Given the description of an element on the screen output the (x, y) to click on. 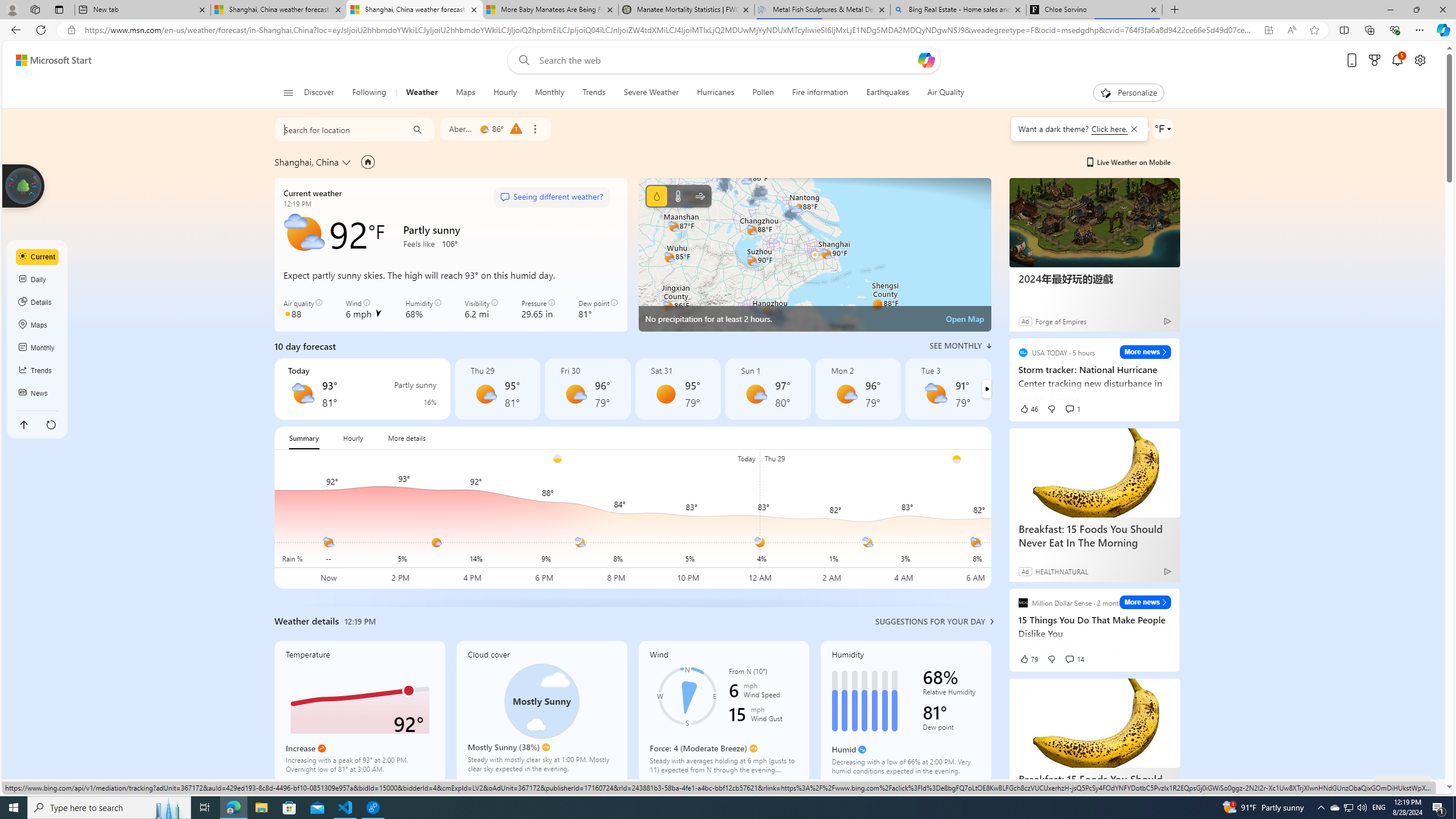
Back (13, 29)
Class: miniMapRadarSVGView-DS-EntryPoint1-1 (814, 254)
Following (370, 92)
Cloud cover (541, 711)
Your Privacy Choices (987, 786)
Manatee Mortality Statistics | FWC (685, 9)
Pollen (763, 92)
Details (37, 302)
Settings and more (Alt+F) (1419, 29)
Personal Profile (12, 9)
Enter your search term (726, 59)
Privacy & Cookies (1160, 786)
Advertise (1263, 786)
Fire information (820, 92)
Forge of Empires (1060, 320)
